Given the description of an element on the screen output the (x, y) to click on. 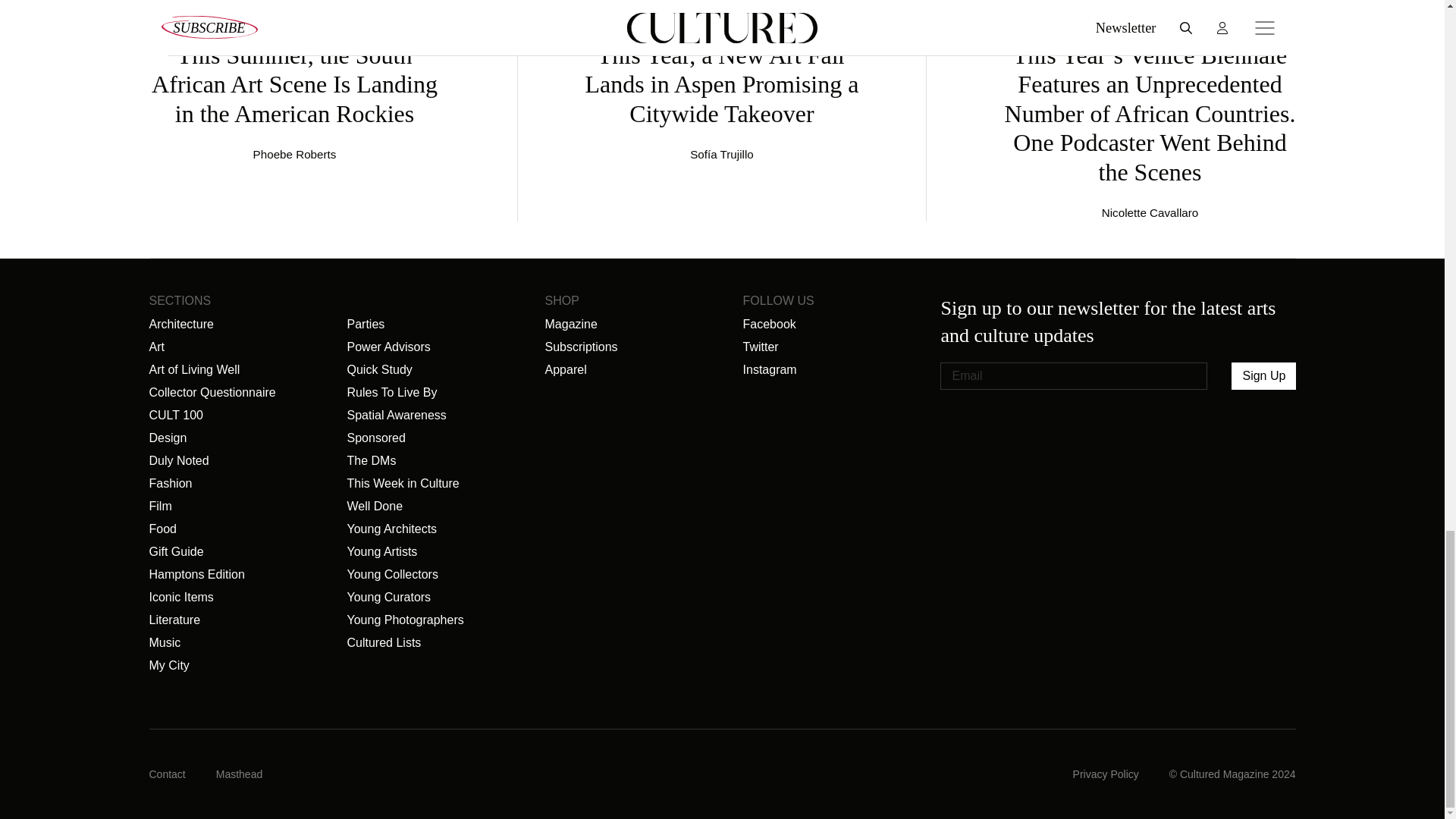
Sign Up (1263, 375)
